Given the description of an element on the screen output the (x, y) to click on. 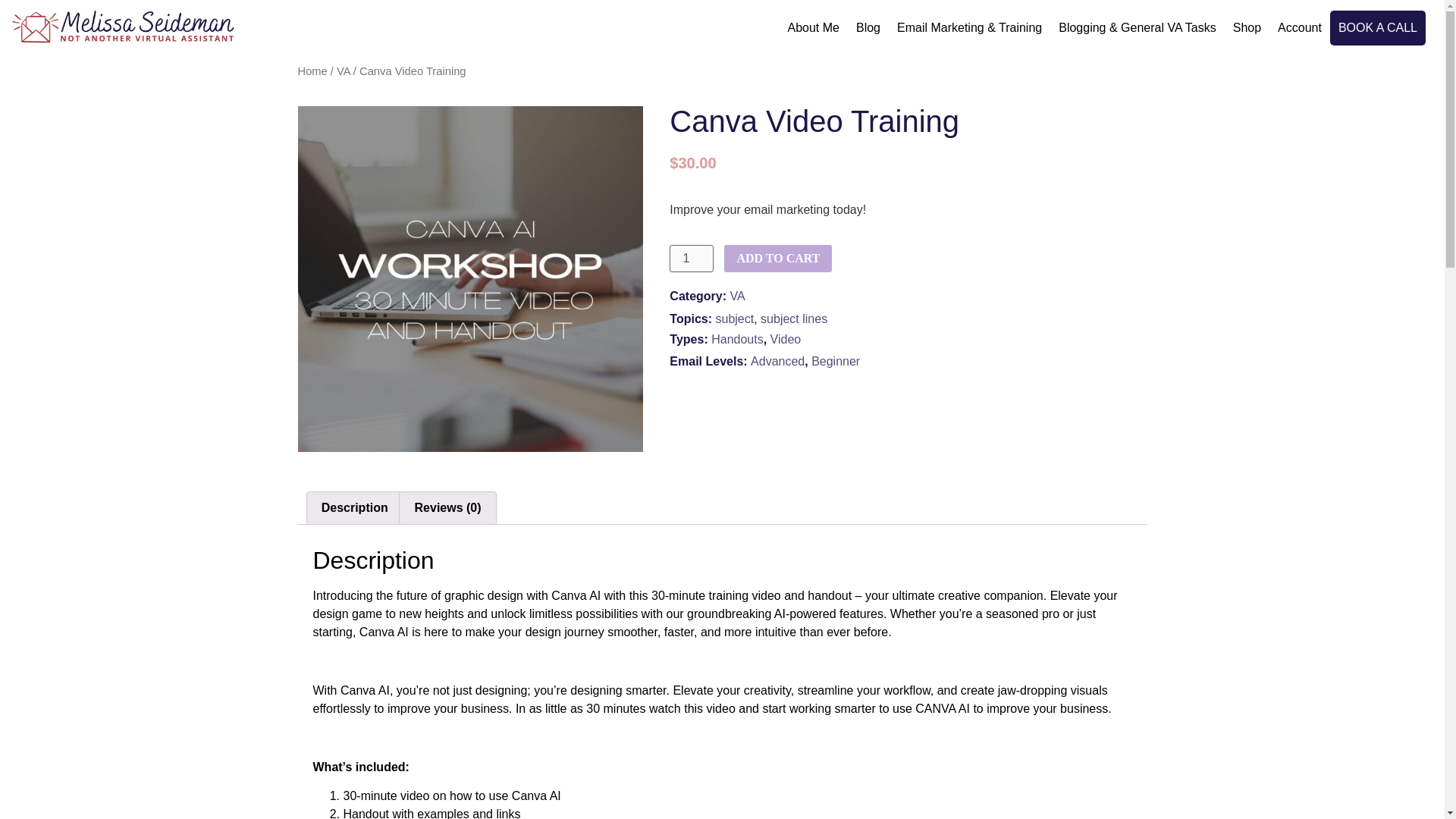
Account (1299, 27)
About Me (812, 27)
Shop (1246, 27)
1 (691, 257)
BOOK A CALL (1377, 27)
2 (470, 279)
Blog (867, 27)
